Given the description of an element on the screen output the (x, y) to click on. 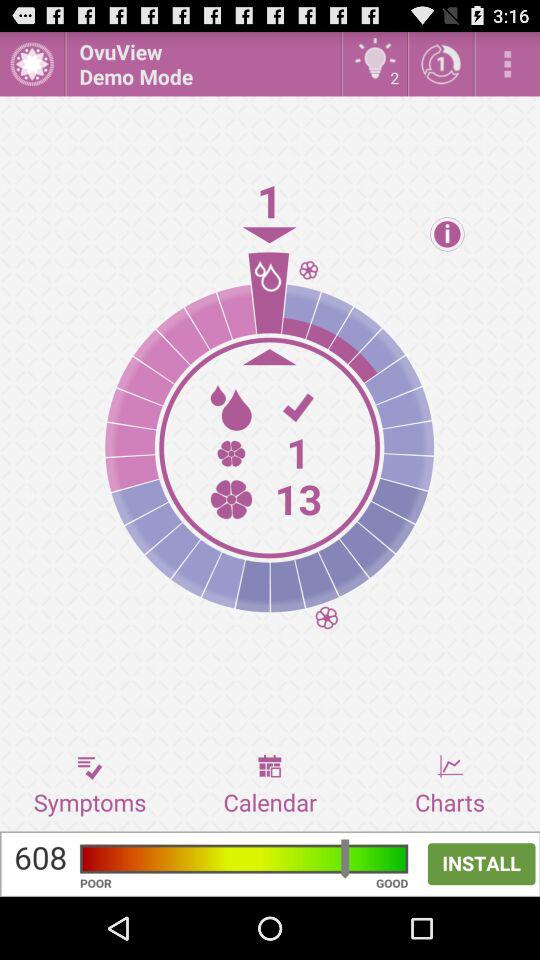
open menu (32, 63)
